Given the description of an element on the screen output the (x, y) to click on. 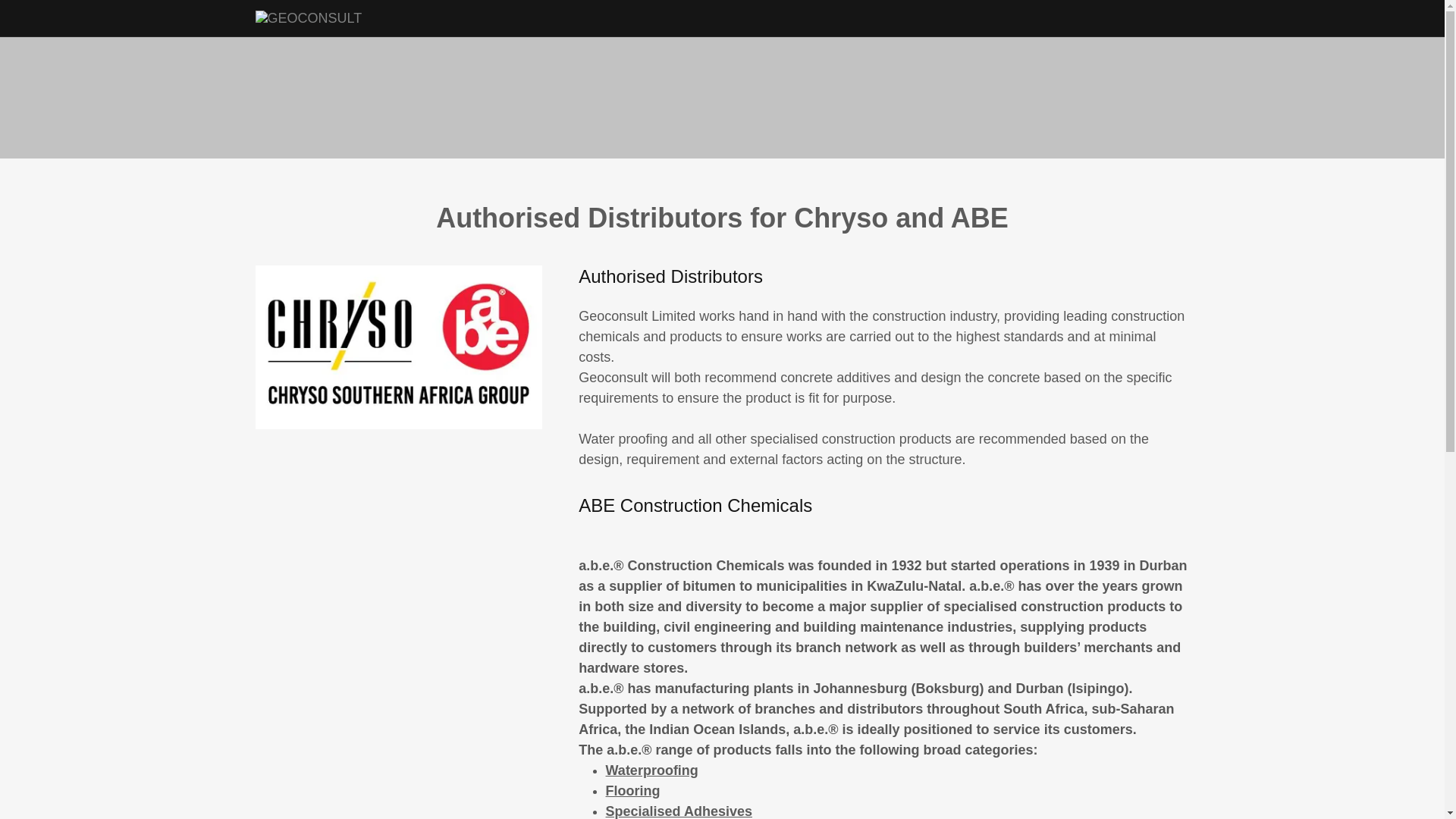
Waterproofing Element type: text (651, 770)
GEOCONSULT Element type: hover (307, 17)
Flooring Element type: text (632, 790)
